Given the description of an element on the screen output the (x, y) to click on. 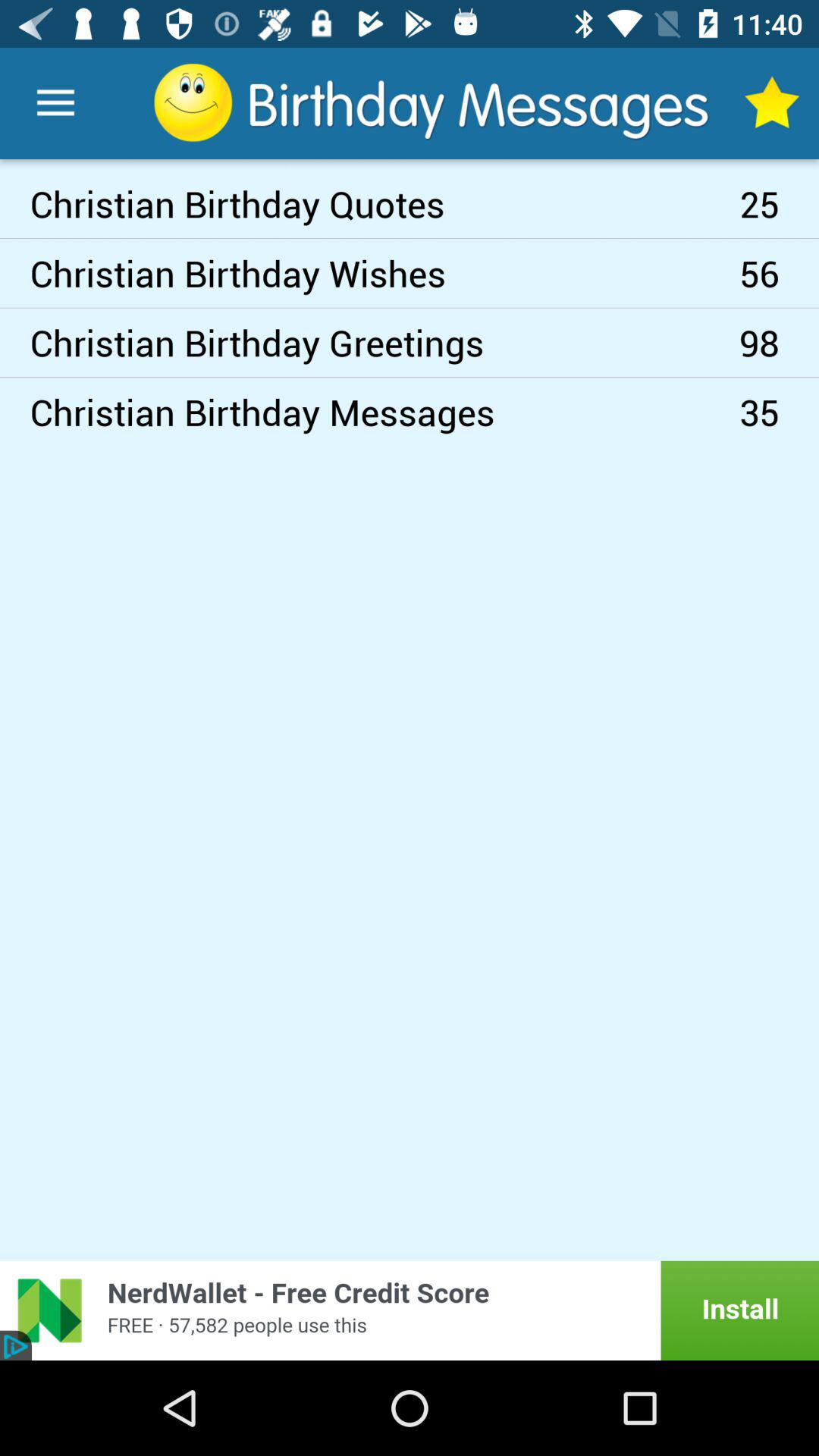
swipe until the 35 icon (779, 411)
